Given the description of an element on the screen output the (x, y) to click on. 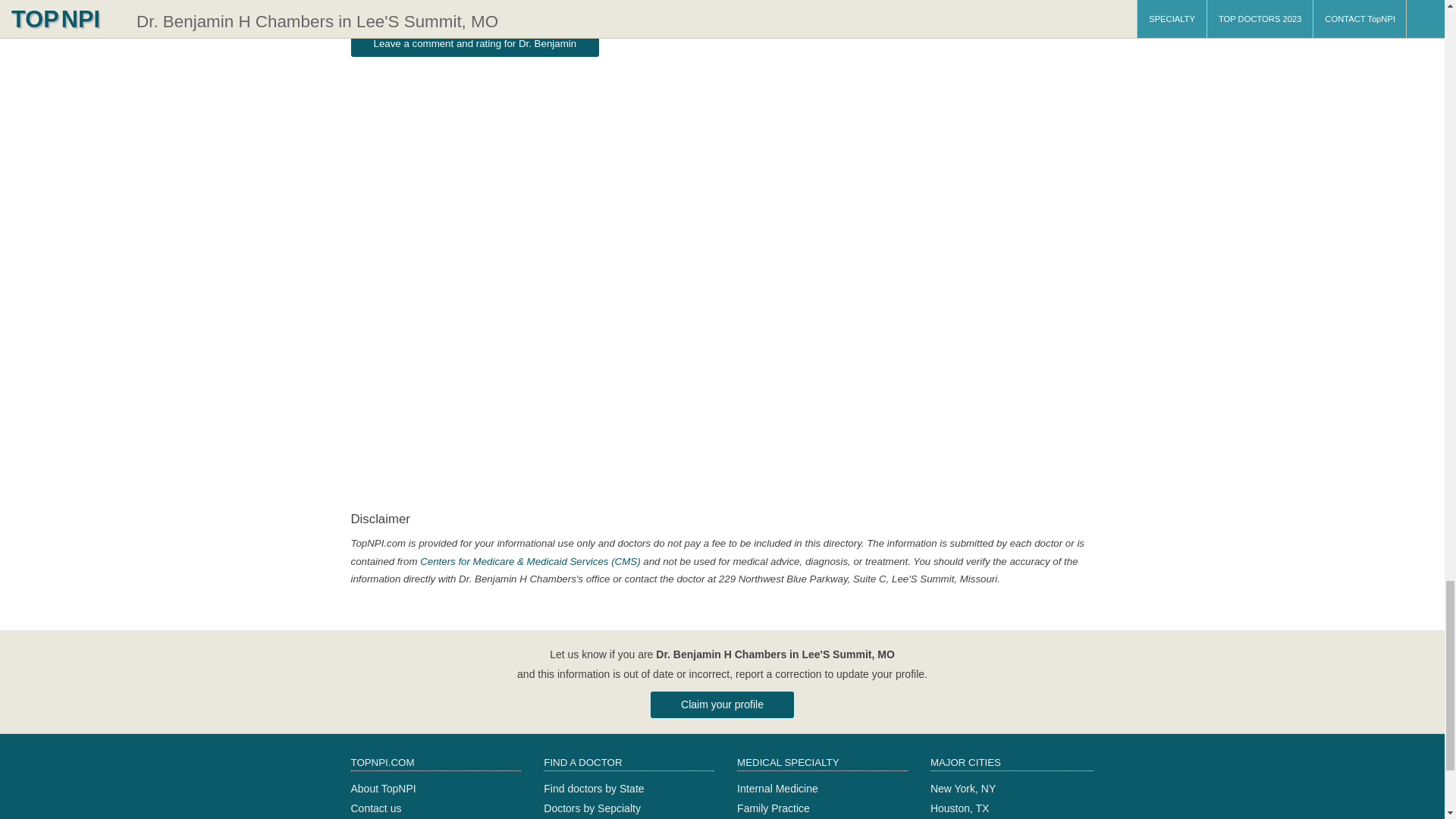
Write a review for Benjamin (474, 43)
TOPNPI.COM (435, 763)
Claim your profile (721, 704)
Leave a comment and rating for Dr. Benjamin (474, 43)
